Given the description of an element on the screen output the (x, y) to click on. 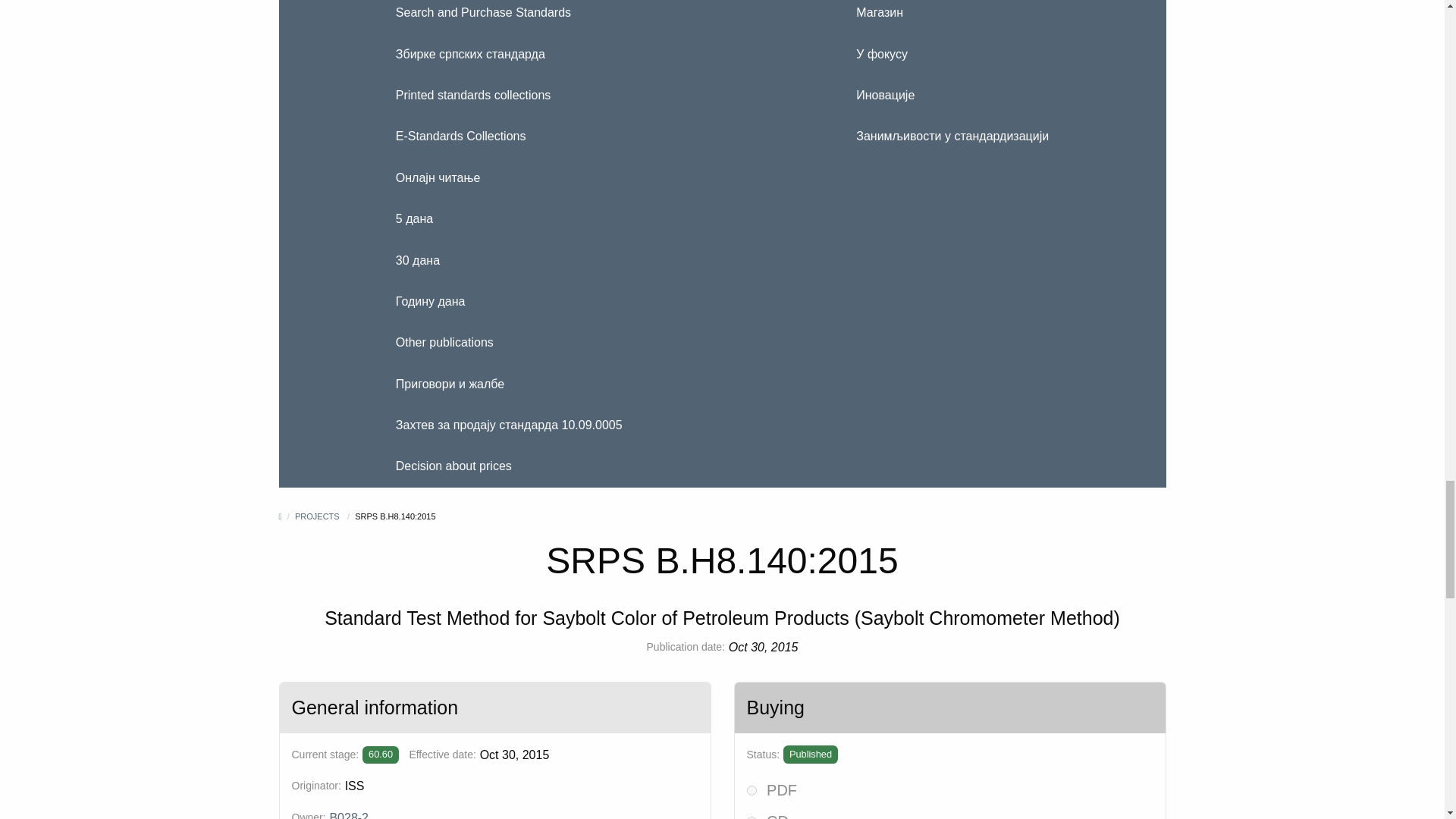
Status (810, 753)
1267 (750, 790)
Standard published (380, 754)
